Given the description of an element on the screen output the (x, y) to click on. 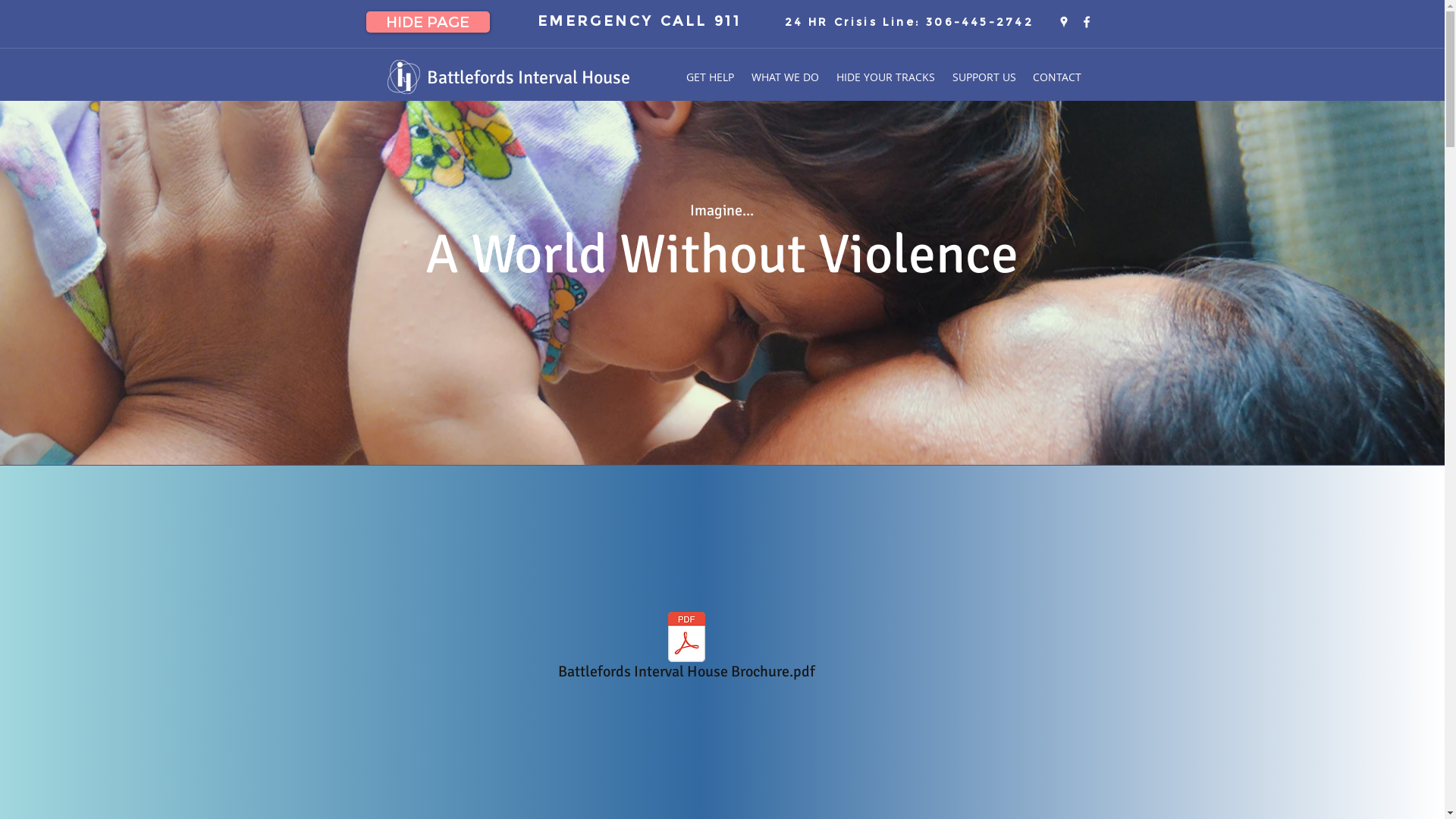
HIDE PAGE Element type: text (427, 21)
Battlefords Interval House Element type: text (527, 76)
WHAT WE DO Element type: text (785, 76)
Embedded Content Element type: hover (394, 148)
CONTACT Element type: text (1055, 76)
Battlefords Interval House Brochure.pdf Element type: text (685, 647)
HIDE YOUR TRACKS Element type: text (886, 76)
GET HELP Element type: text (710, 76)
SUPPORT US Element type: text (983, 76)
